Given the description of an element on the screen output the (x, y) to click on. 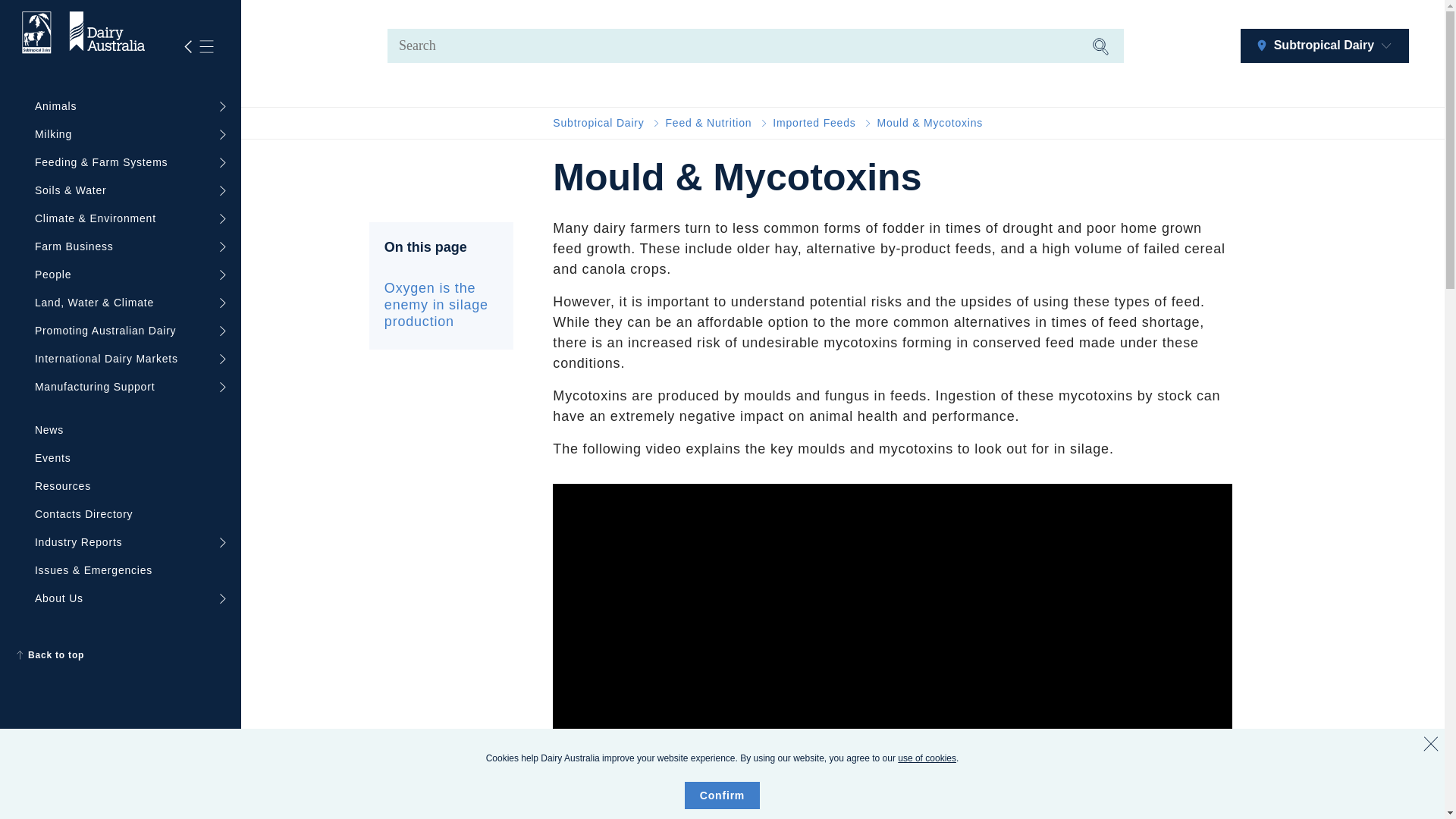
Mould and Mycotoxins (929, 122)
Animals (126, 106)
Feed and Nutrition - OLD VERSION (708, 122)
Home (598, 122)
Imported Feeds (814, 122)
Oxygen is the enemy in silage production (441, 304)
Milking (126, 134)
